Given the description of an element on the screen output the (x, y) to click on. 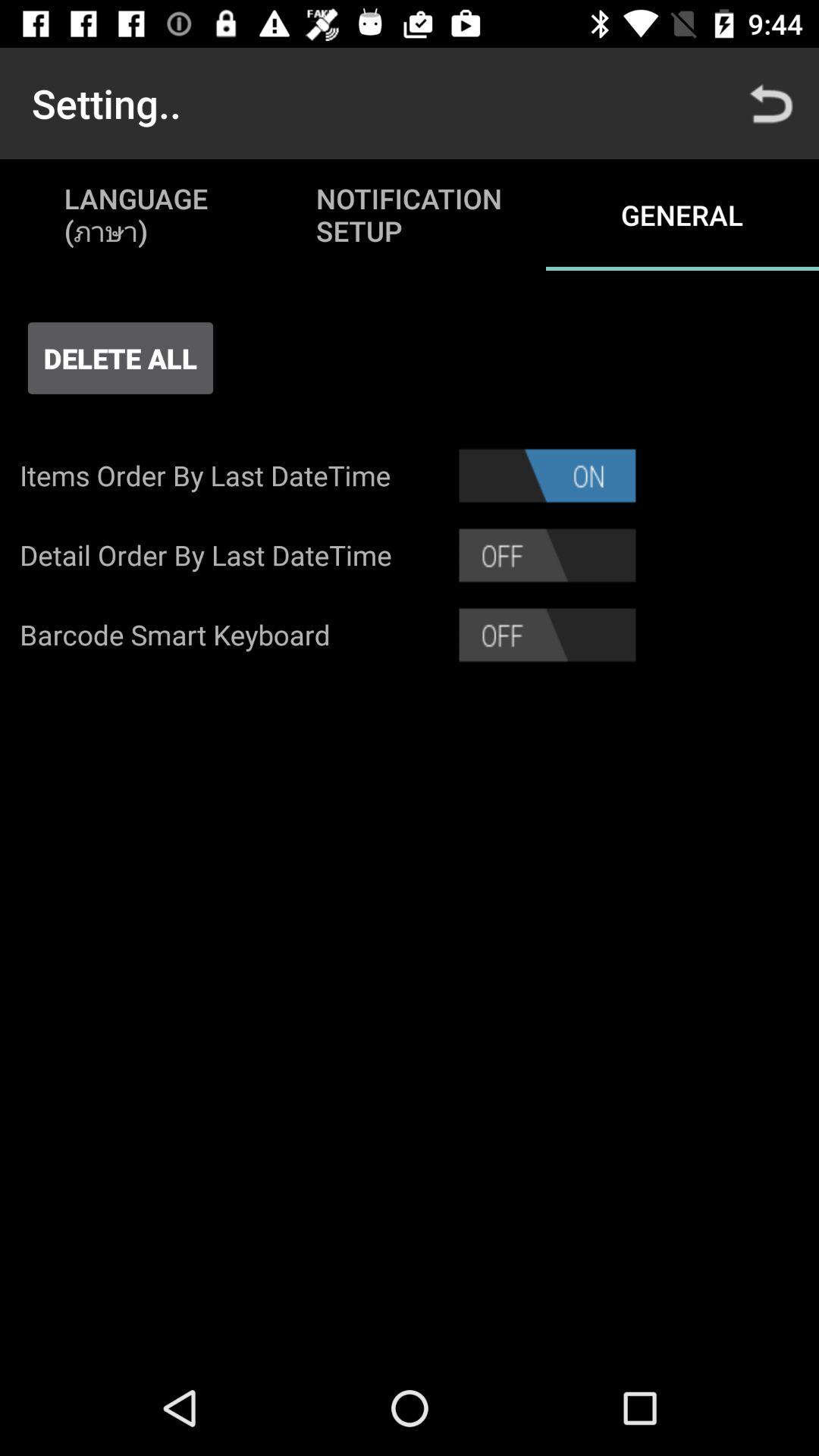
toggle on off option (547, 634)
